Given the description of an element on the screen output the (x, y) to click on. 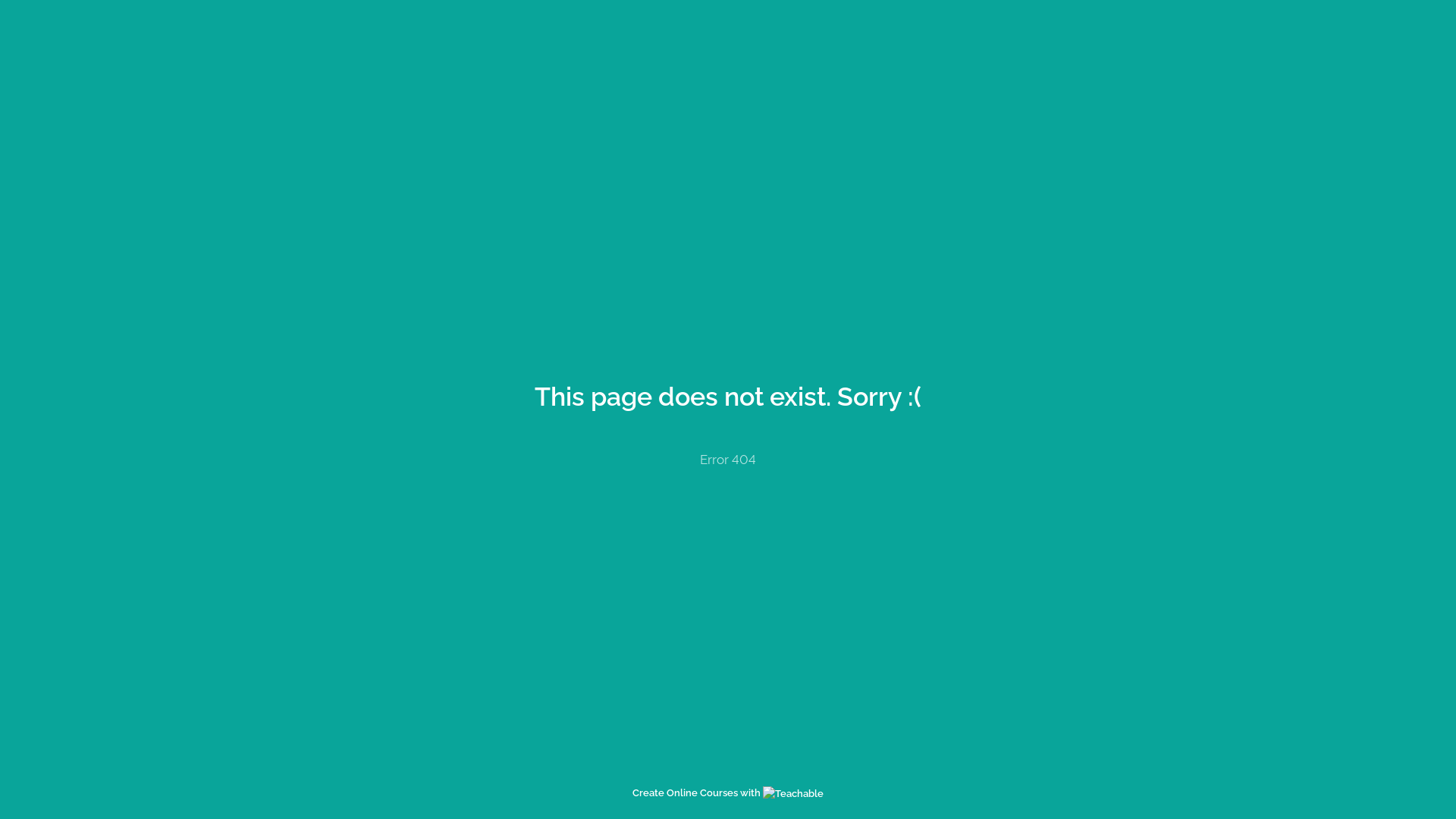
Create Online Courses with Element type: text (727, 792)
